Given the description of an element on the screen output the (x, y) to click on. 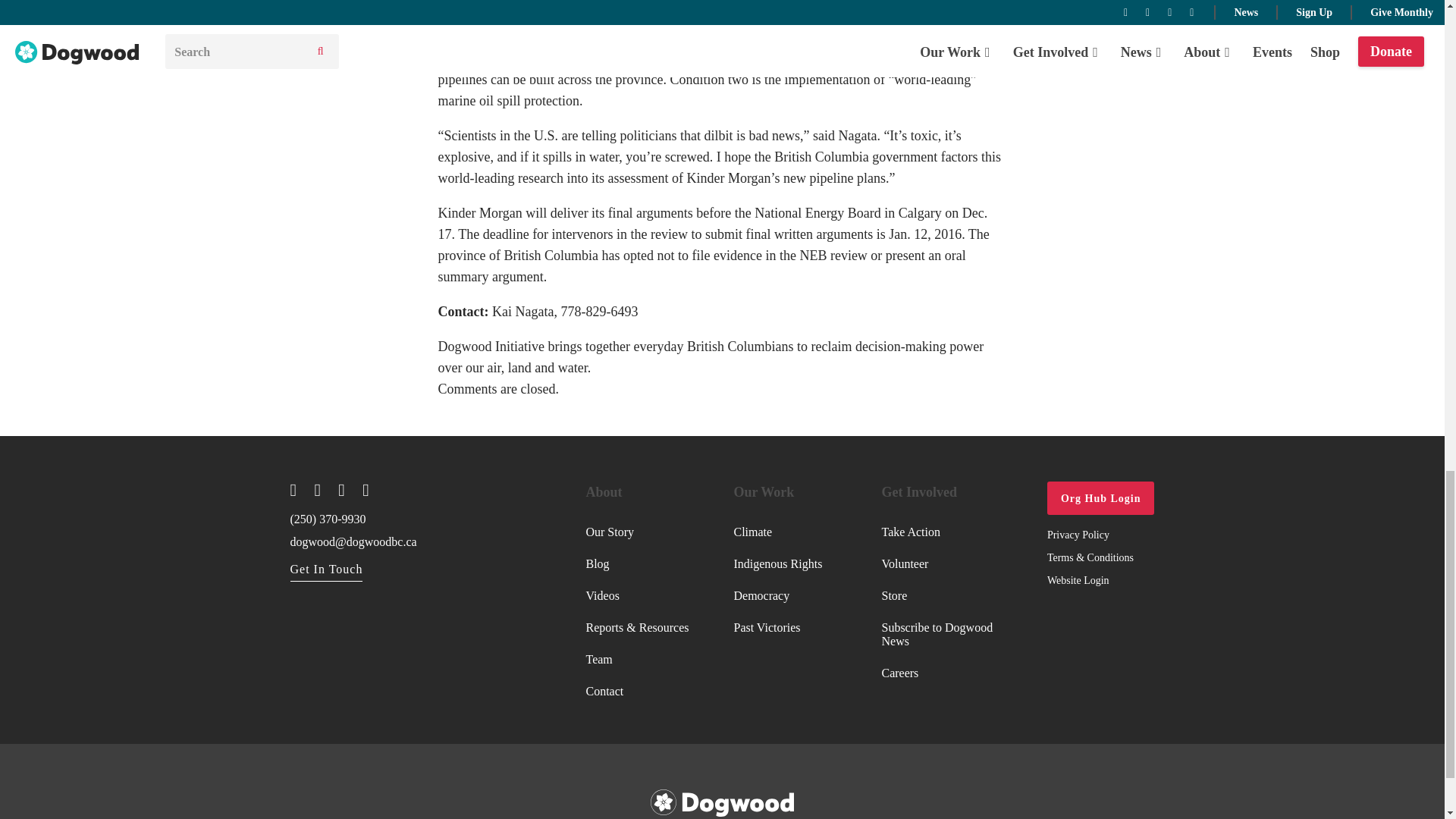
Democracy (777, 595)
Indigenous Rights (777, 563)
Take Action (943, 531)
Videos (636, 595)
Climate (777, 531)
Past Victories (777, 627)
Volunteer (943, 563)
Contact (636, 691)
Blog (636, 563)
Our Story (636, 531)
Team (636, 659)
